Given the description of an element on the screen output the (x, y) to click on. 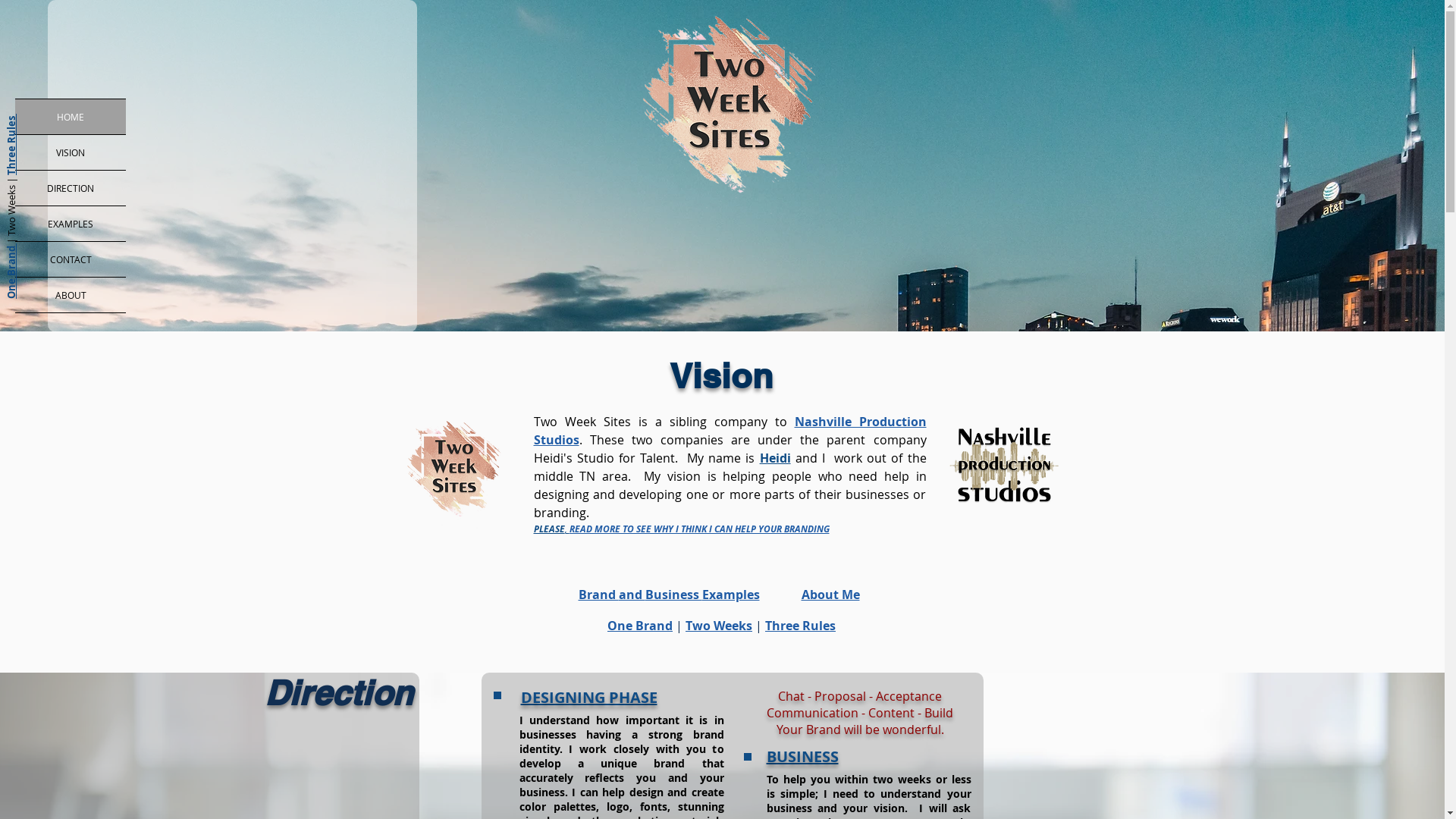
Three Rules Element type: text (800, 625)
Heidi Element type: text (774, 457)
Brand  Element type: text (597, 594)
Two Weeks Element type: text (718, 625)
About Me Element type: text (829, 594)
BUSINESS Element type: text (801, 756)
Examples Element type: text (730, 594)
Three Rules  Element type: text (34, 120)
Two Week Sites Element type: hover (453, 466)
One Brand Element type: text (639, 625)
EXAMPLES Element type: text (70, 223)
Business  Element type: text (672, 594)
One Brand  Element type: text (31, 250)
DIRECTION Element type: text (70, 187)
CONTACT Element type: text (70, 258)
and Element type: text (631, 594)
VISION Element type: text (70, 151)
DESIGNING PHASE Element type: text (588, 697)
Nashville Production Studios Element type: text (729, 430)
ABOUT Element type: text (70, 294)
HOME Element type: text (70, 116)
